Given the description of an element on the screen output the (x, y) to click on. 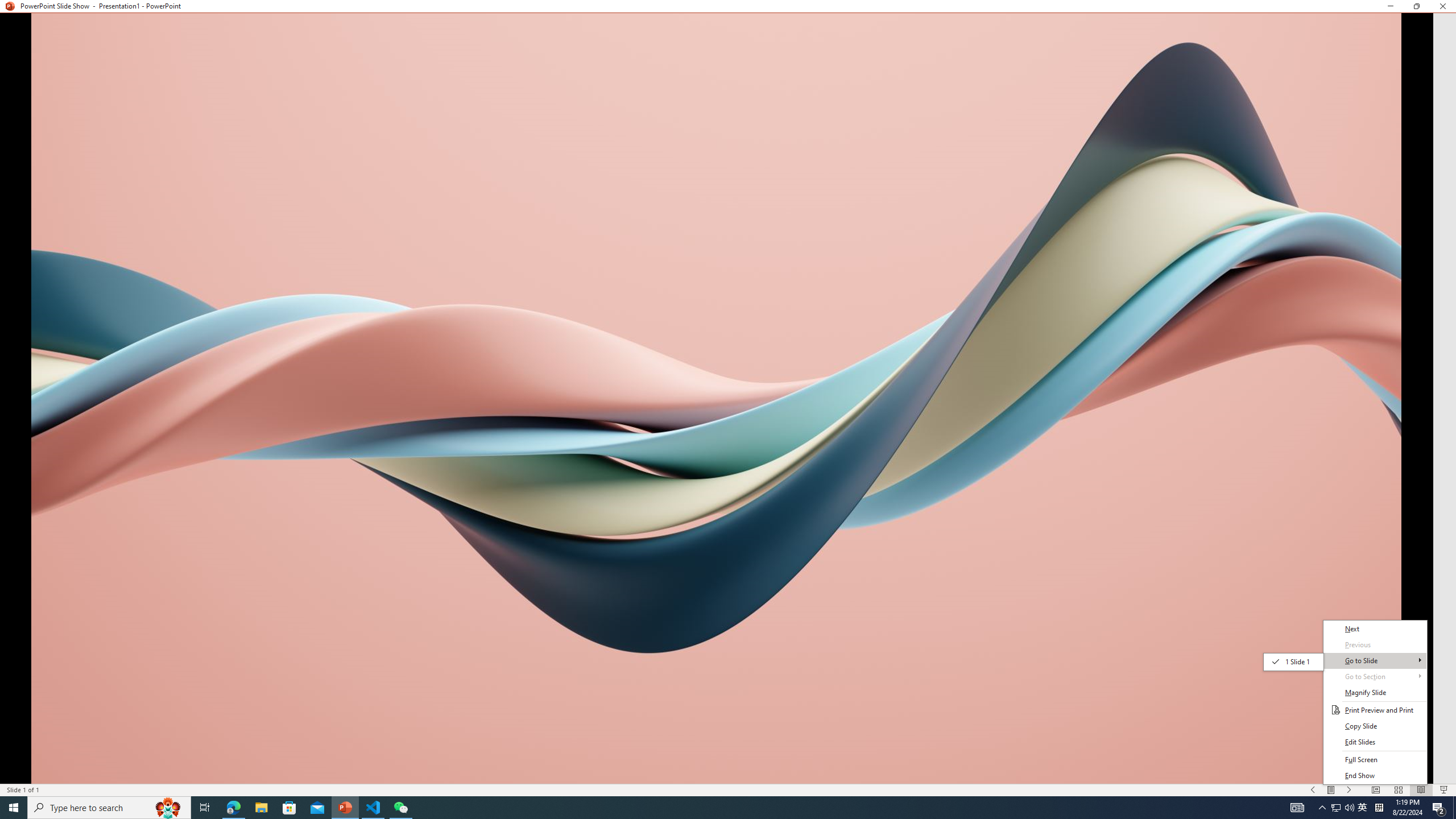
WeChat - 1 running window (400, 807)
Full Screen (1374, 759)
Microsoft Edge - 1 running window (233, 807)
Edit Slides (1374, 742)
Notification Chevron (1322, 807)
Action Center, 2 new notifications (1439, 807)
Slide Show Previous On (1313, 790)
Tray Input Indicator - Chinese (Simplified, China) (1378, 807)
Copy Slide (1374, 726)
Context Menu (1374, 701)
Visual Studio Code - 1 running window (373, 807)
Previous (1374, 644)
